Given the description of an element on the screen output the (x, y) to click on. 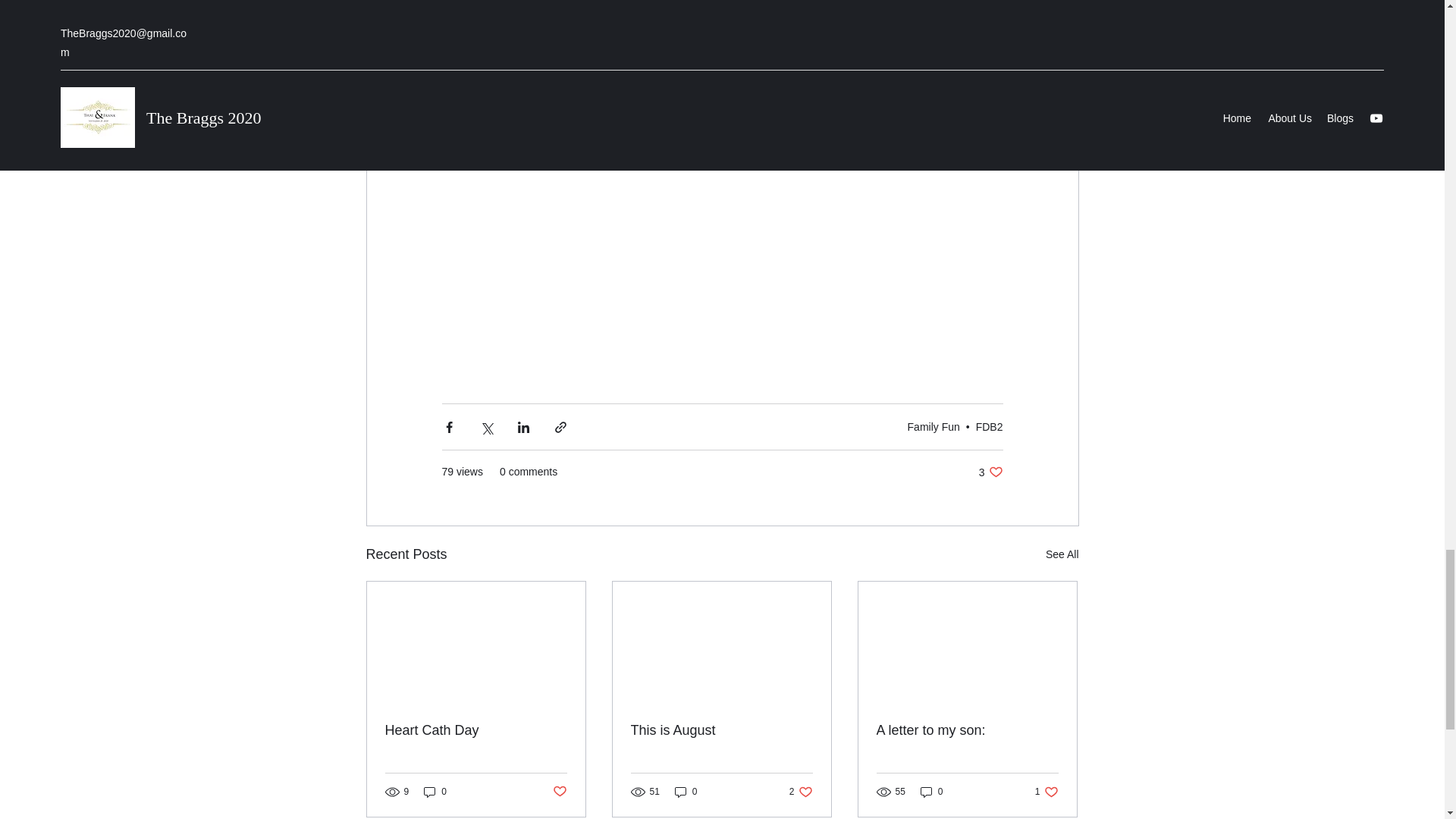
Post not marked as liked (990, 472)
FDB2 (558, 791)
0 (1046, 791)
Family Fun (989, 426)
See All (685, 791)
Heart Cath Day (800, 791)
0 (933, 426)
A letter to my son: (1061, 554)
This is August (476, 730)
0 (931, 791)
